Given the description of an element on the screen output the (x, y) to click on. 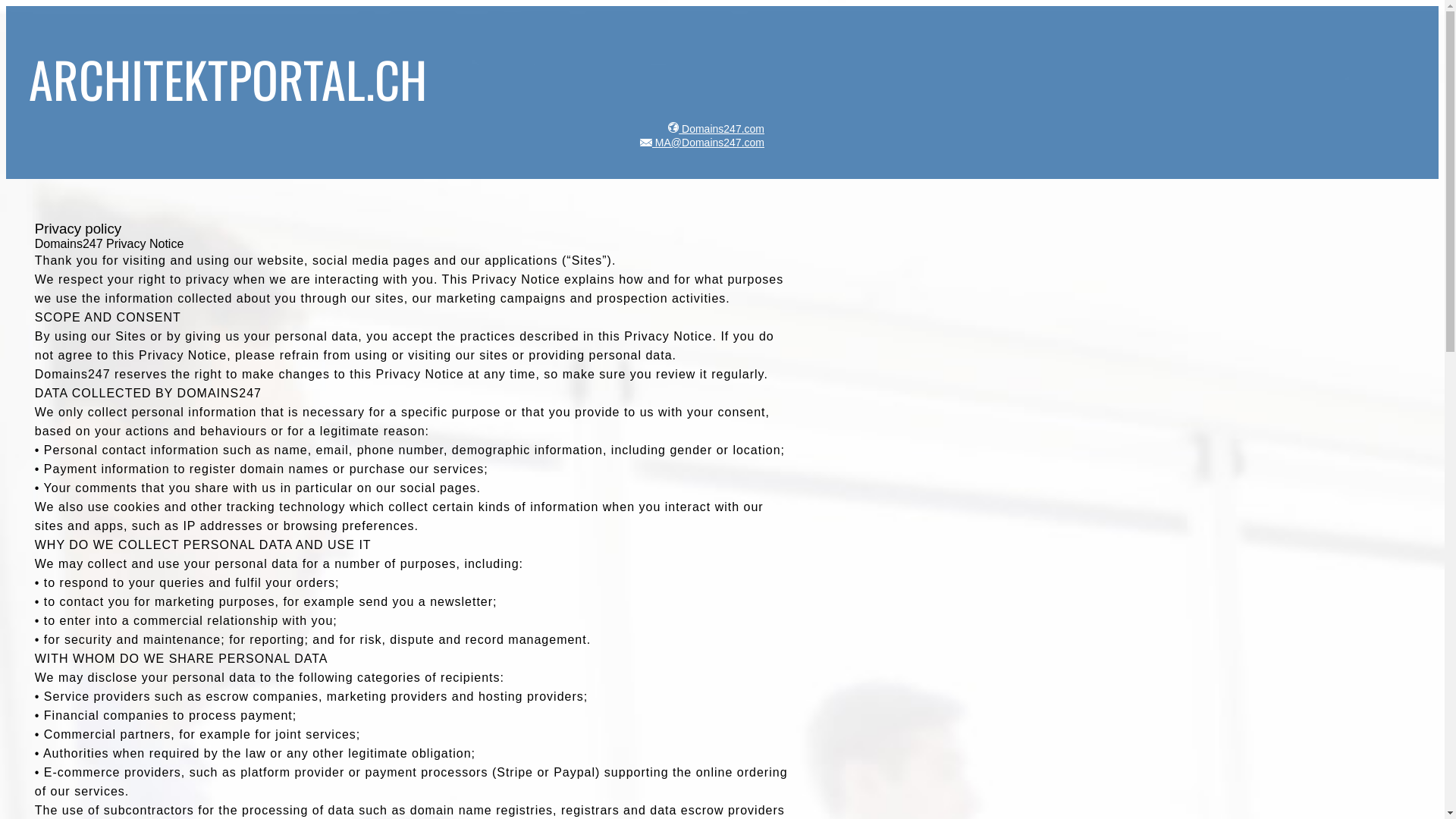
MA@Domains247.com Element type: text (700, 142)
Domains247.com Element type: text (714, 128)
